Given the description of an element on the screen output the (x, y) to click on. 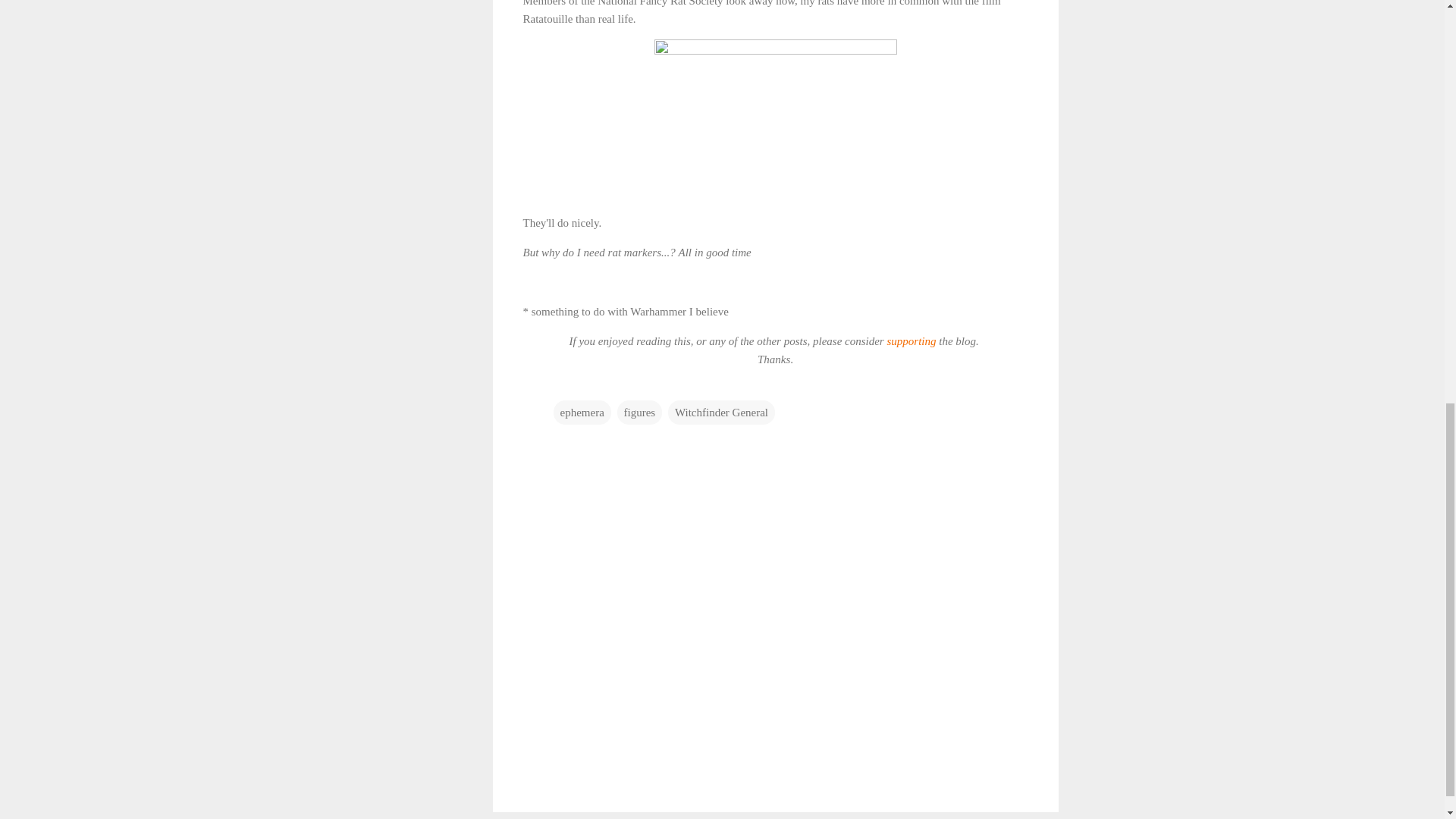
figures (639, 412)
Witchfinder General (721, 412)
 supporting (909, 340)
ephemera (582, 412)
